Given the description of an element on the screen output the (x, y) to click on. 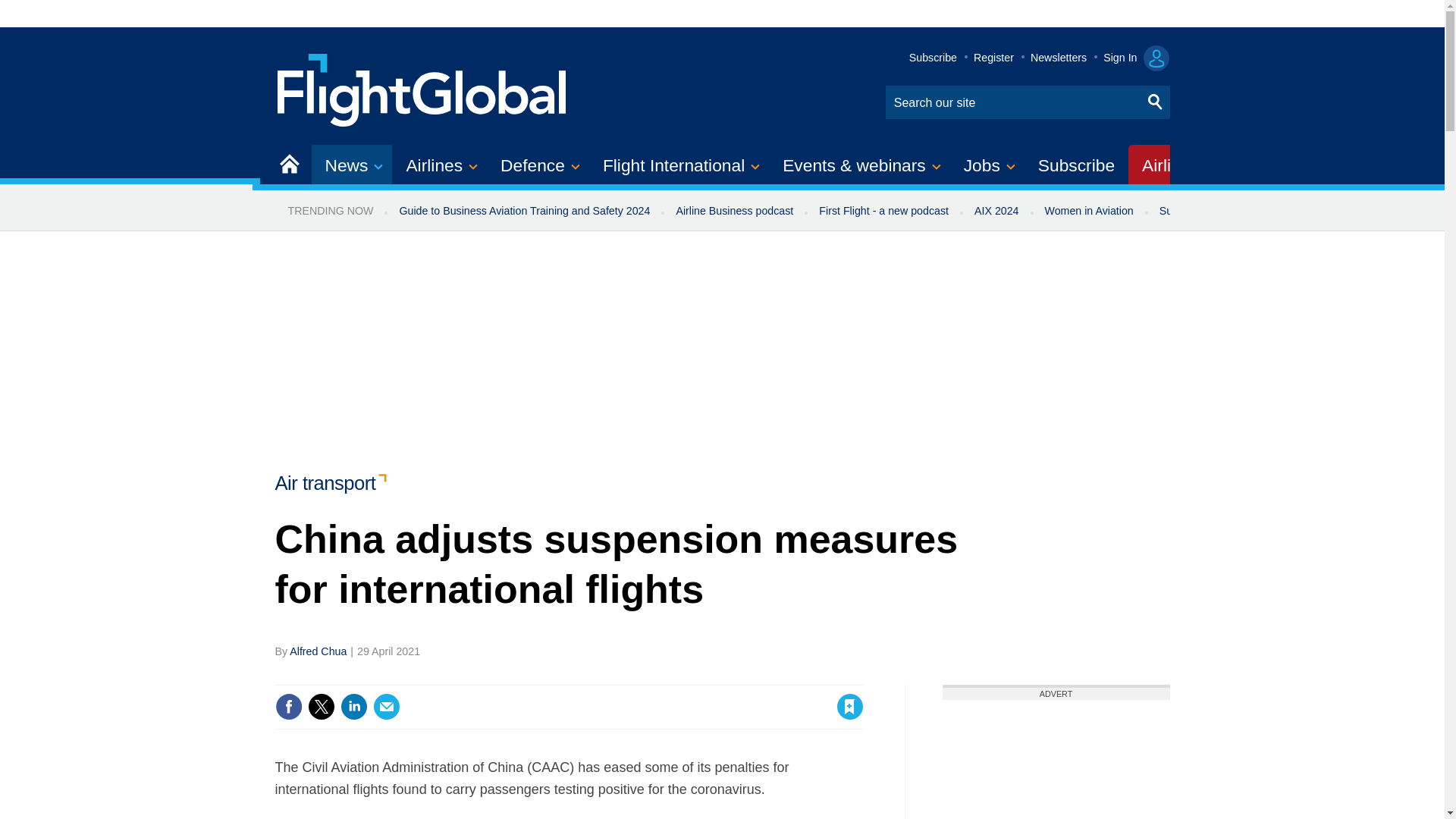
Email this article (386, 706)
AIX 2024 (996, 210)
Women in Aviation (1089, 210)
First Flight - a new podcast (883, 210)
Guide to Business Aviation Training and Safety 2024 (523, 210)
Share this on Linked in (352, 706)
Sustainable Aviation newsletter (1234, 210)
Site name (422, 88)
